Given the description of an element on the screen output the (x, y) to click on. 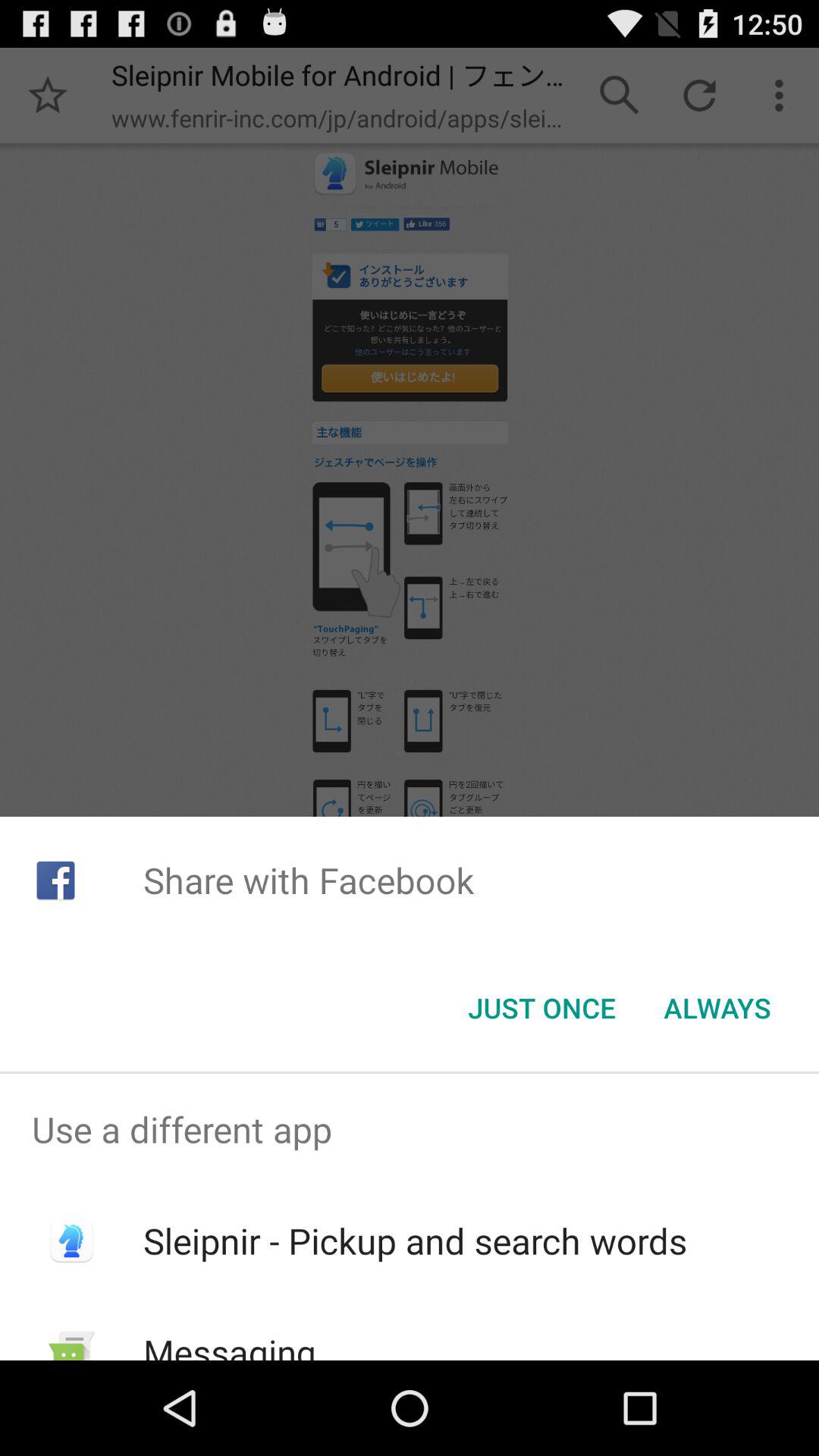
click the button next to always item (541, 1007)
